Given the description of an element on the screen output the (x, y) to click on. 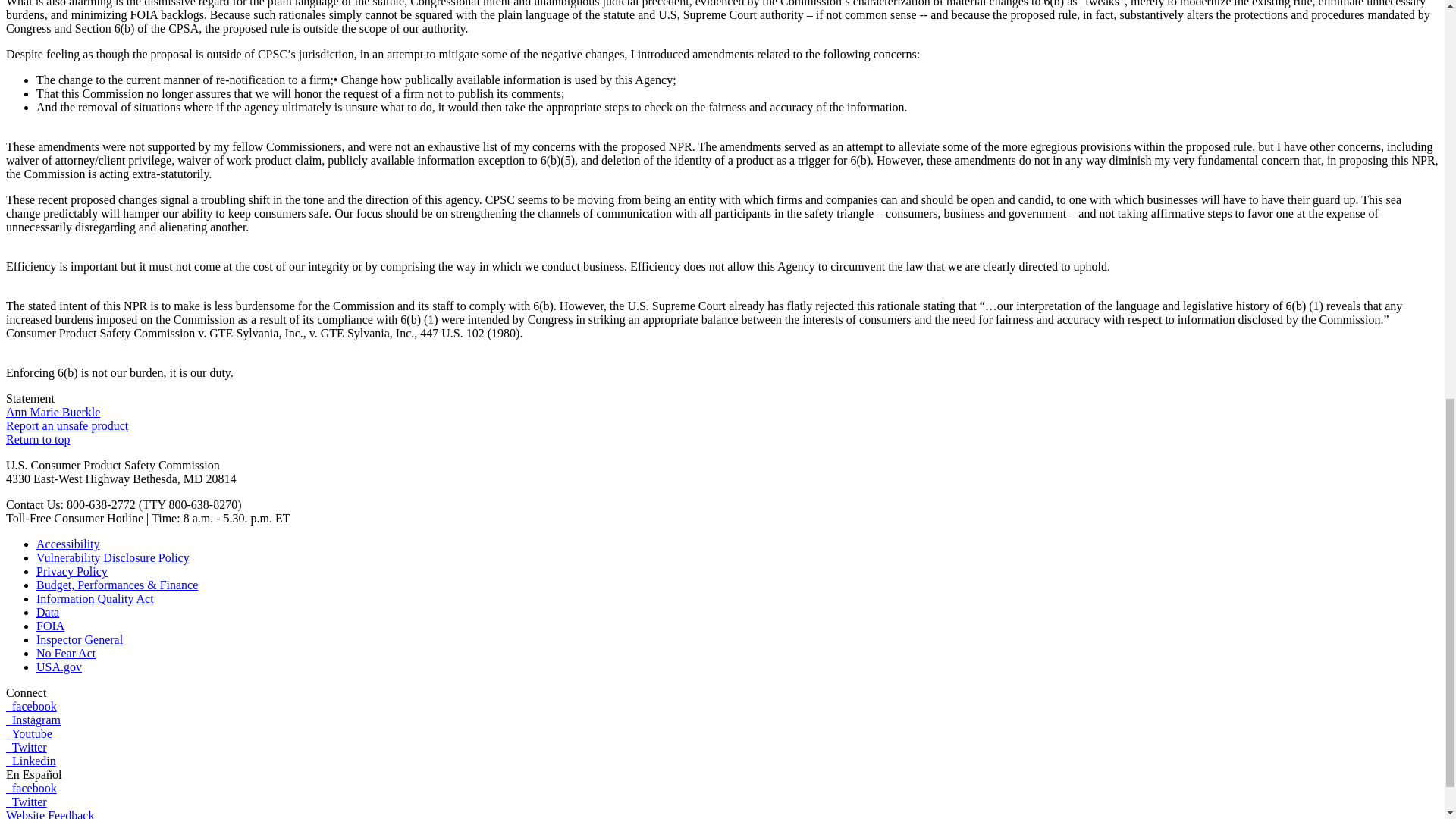
CPSC Youtube (28, 733)
Vulnerability Disclosure Policy (112, 557)
FOIA (50, 625)
USA.gov (58, 666)
  Instagram (33, 719)
CPSC Linkedin (30, 760)
Privacy Policy (71, 571)
Inspector General (79, 639)
CPSC Twitter (25, 747)
Accessibility (68, 543)
Ann Marie Buerkle (52, 411)
CPSC Instagram (33, 719)
Report an unsafe product (66, 425)
Return to top (37, 439)
No Fear Act (66, 653)
